Given the description of an element on the screen output the (x, y) to click on. 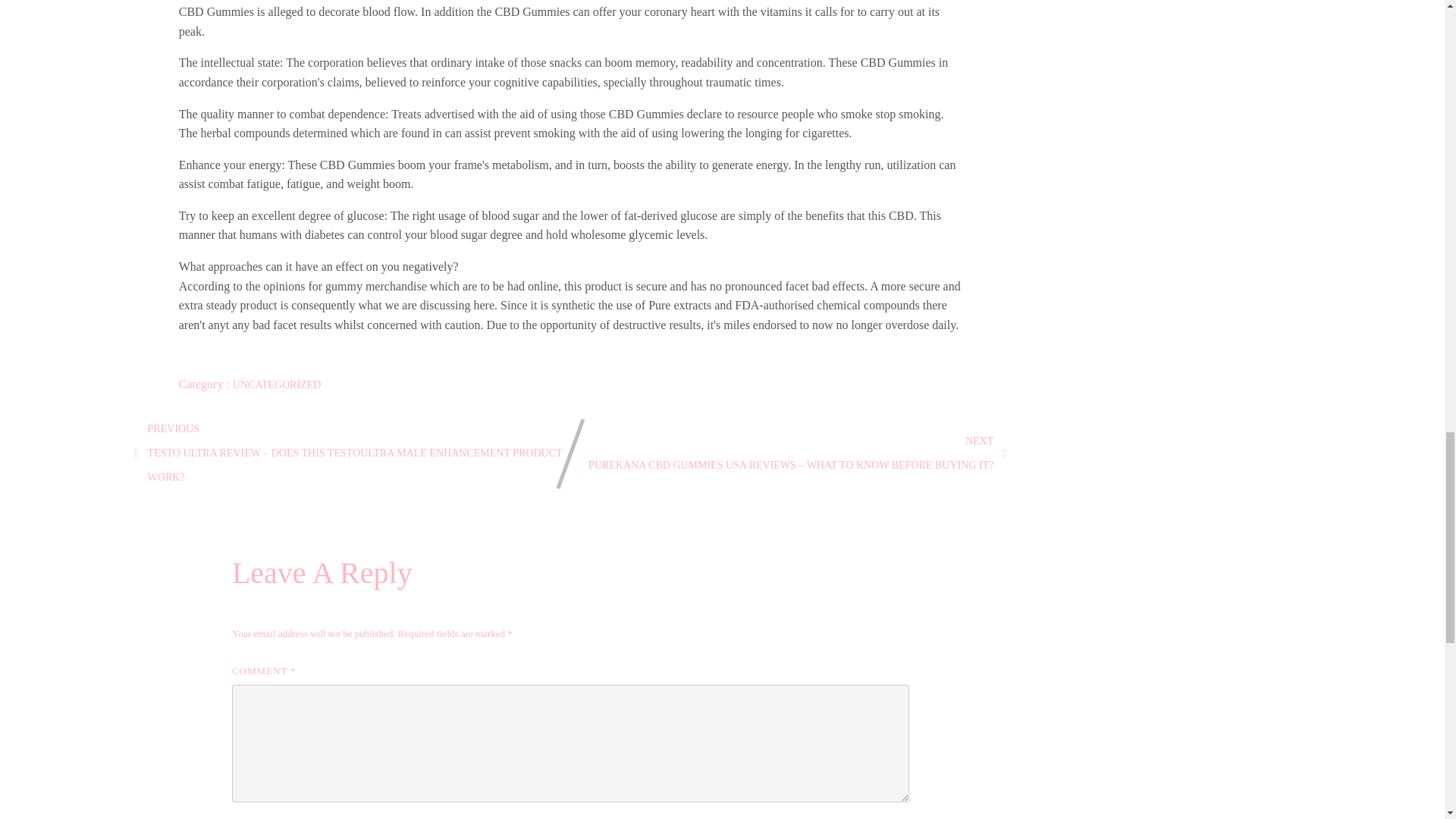
UNCATEGORIZED (276, 384)
